Given the description of an element on the screen output the (x, y) to click on. 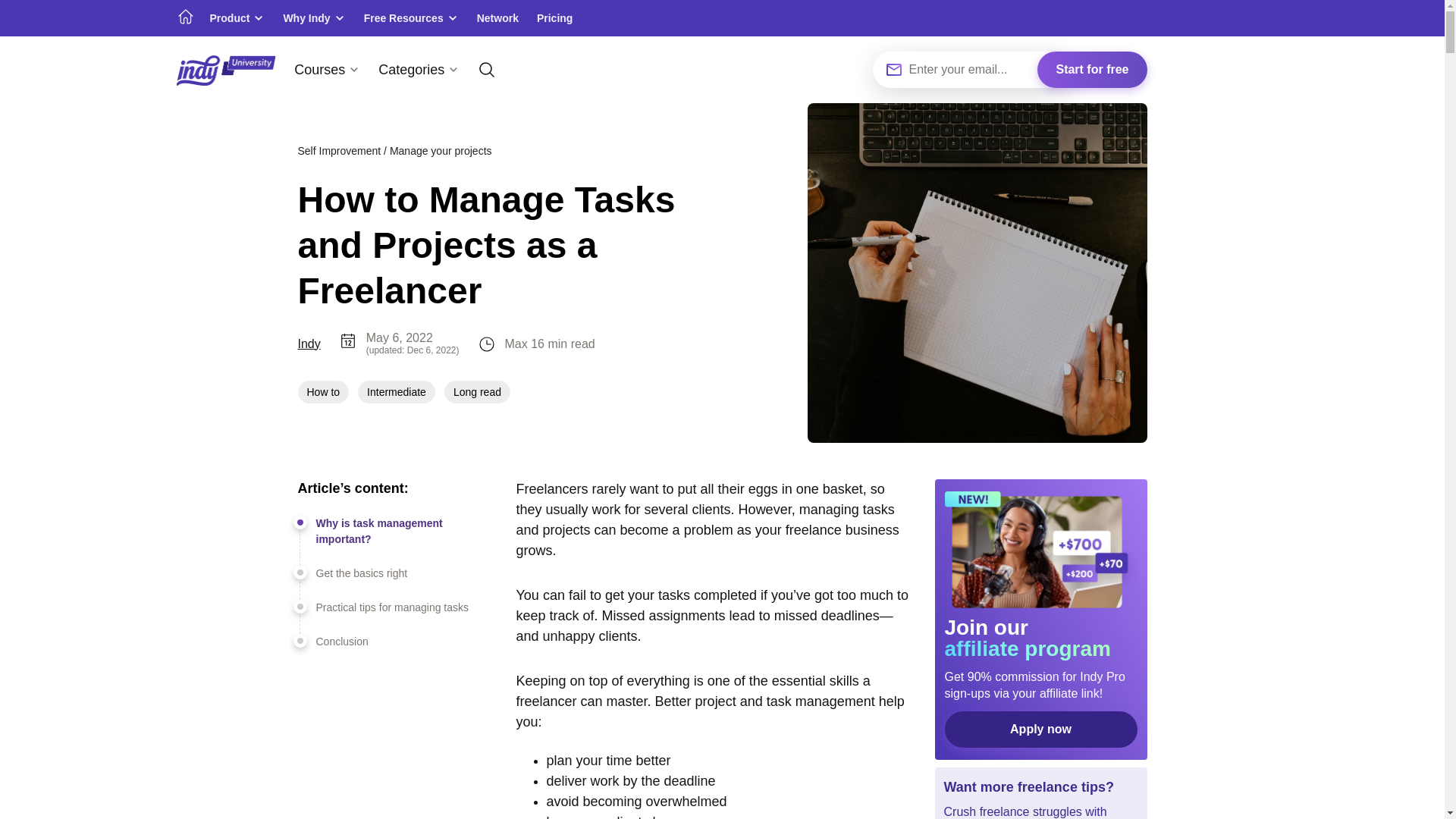
Pricing (553, 18)
Self Improvement (338, 150)
Network (497, 18)
Indy (308, 343)
Apply now (1040, 729)
Start for free (1091, 69)
Manage your projects (441, 150)
Long read (477, 391)
How to (323, 391)
Intermediate (396, 391)
